Given the description of an element on the screen output the (x, y) to click on. 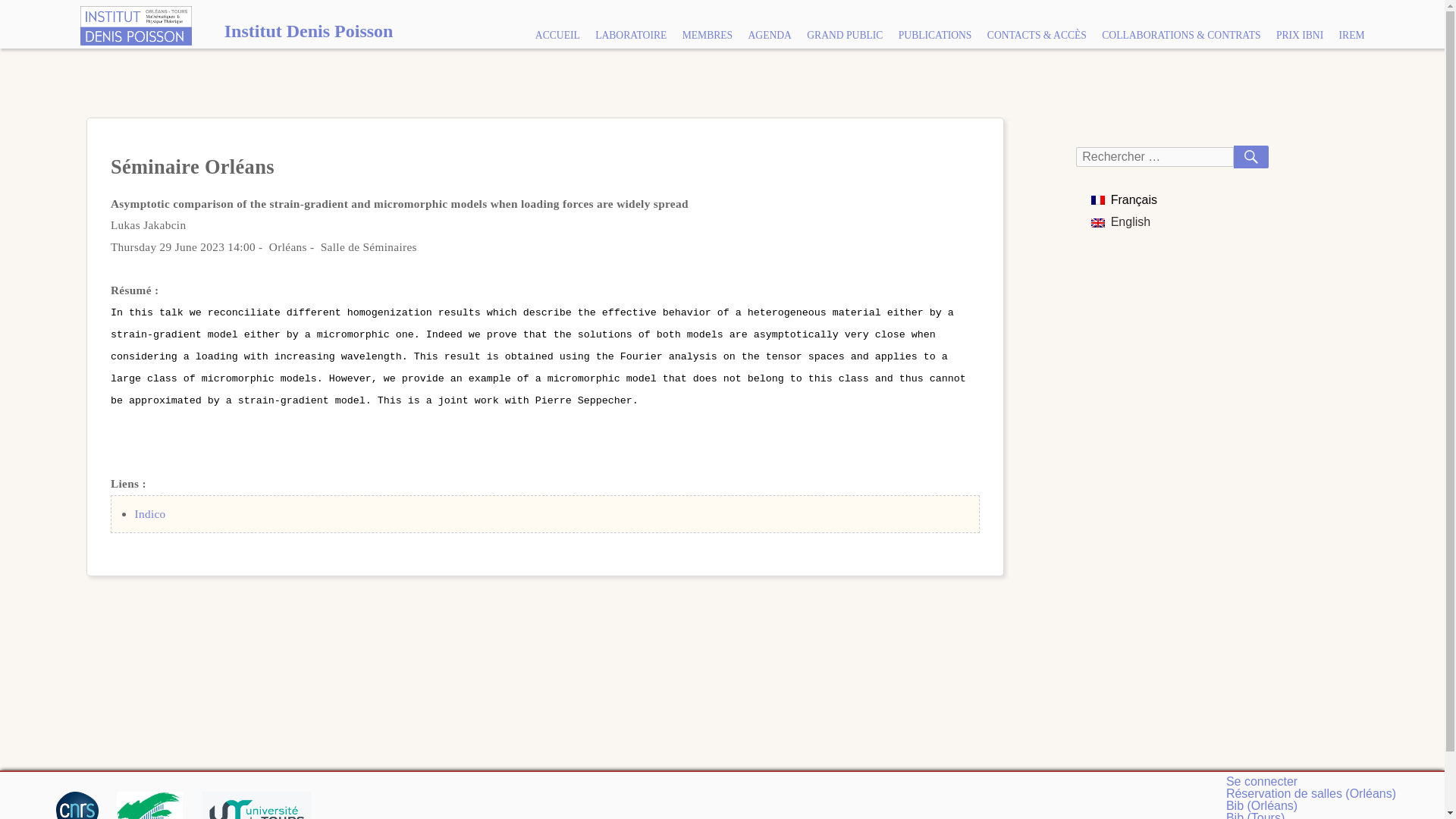
AGENDA (769, 35)
PUBLICATIONS (935, 35)
Se connecter (1261, 780)
Indico (149, 513)
PRIX IBNI (1300, 35)
English (1120, 221)
ACCUEIL (557, 35)
Institut Denis Poisson (232, 30)
GRAND PUBLIC (844, 35)
